Given the description of an element on the screen output the (x, y) to click on. 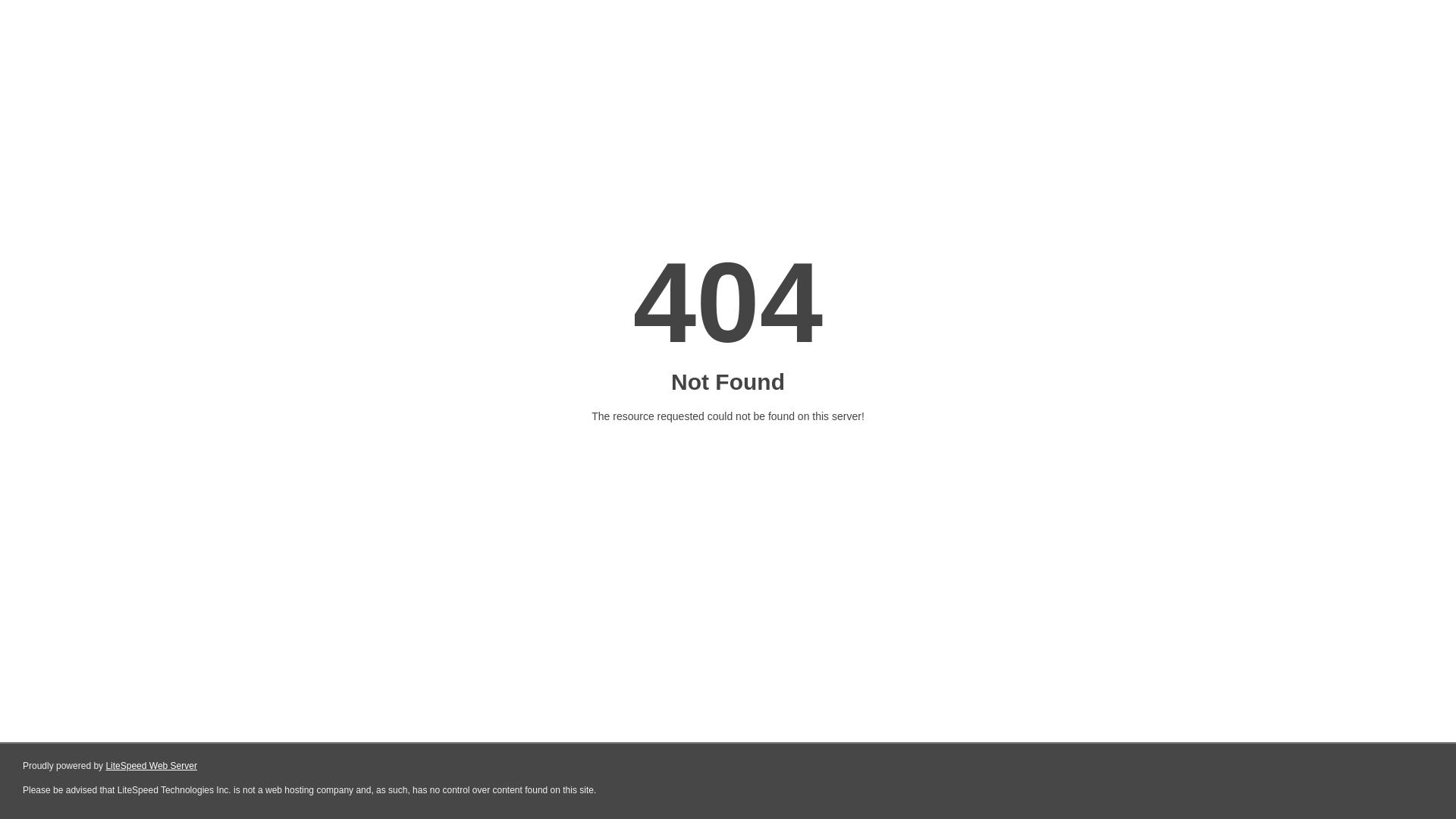
LiteSpeed Web Server Element type: text (151, 765)
